Given the description of an element on the screen output the (x, y) to click on. 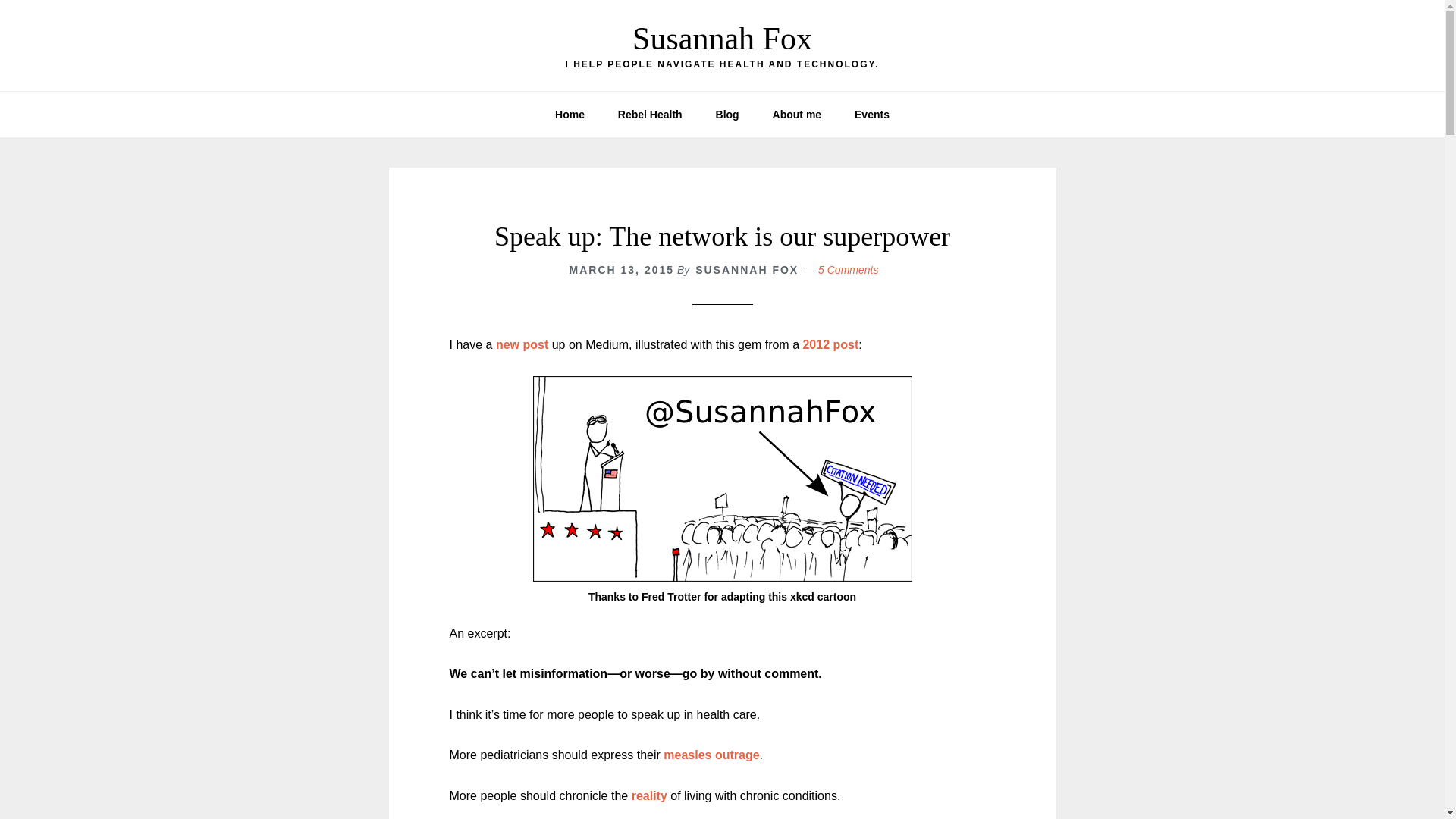
Blog (727, 114)
SUSANNAH FOX (746, 269)
Susannah Fox (721, 38)
About me (797, 114)
reality (648, 795)
measles outrage (710, 754)
Rebel Health (649, 114)
Events (872, 114)
new post (522, 344)
